Given the description of an element on the screen output the (x, y) to click on. 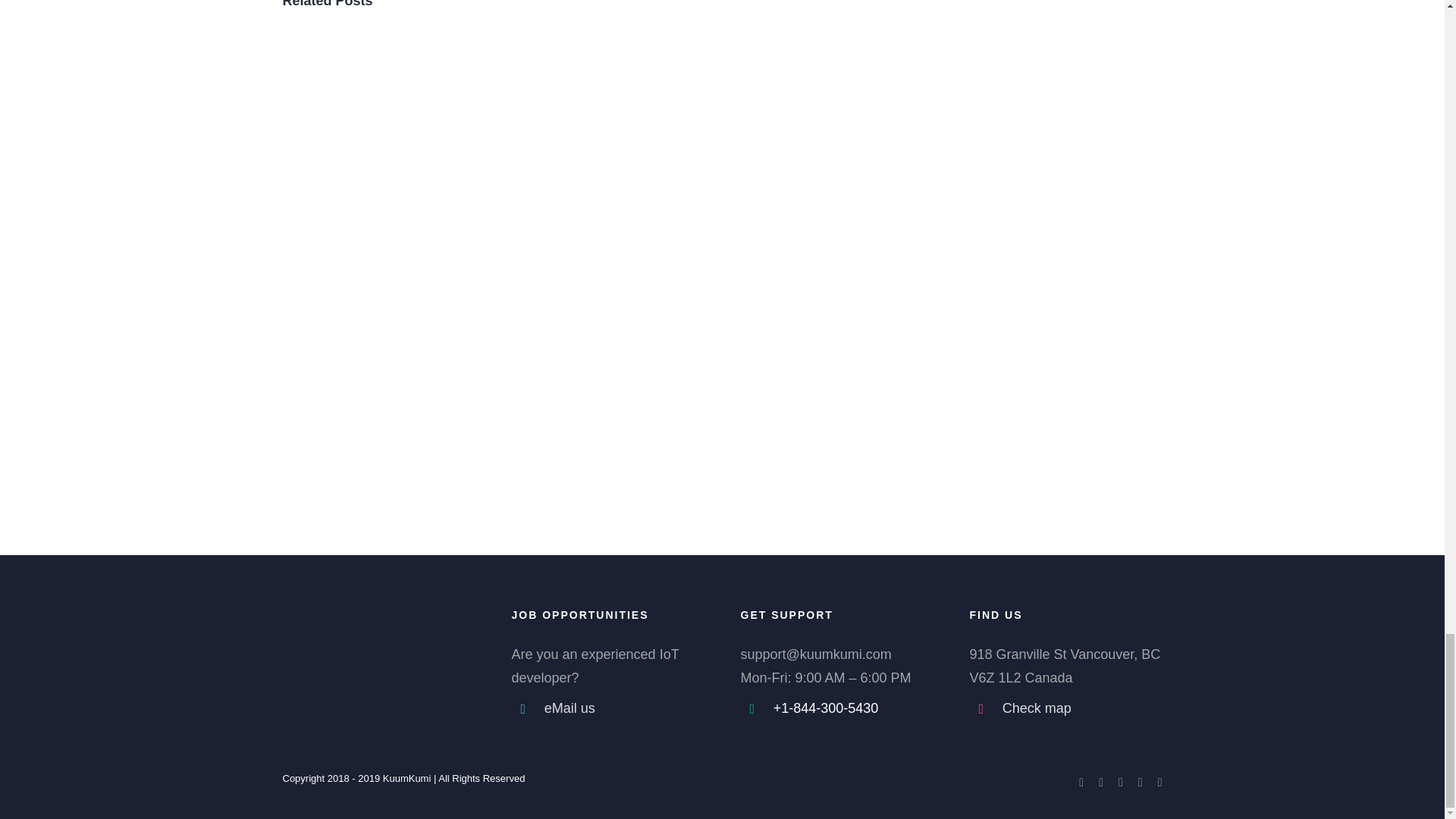
Check map (1082, 708)
eMail us (624, 708)
